Given the description of an element on the screen output the (x, y) to click on. 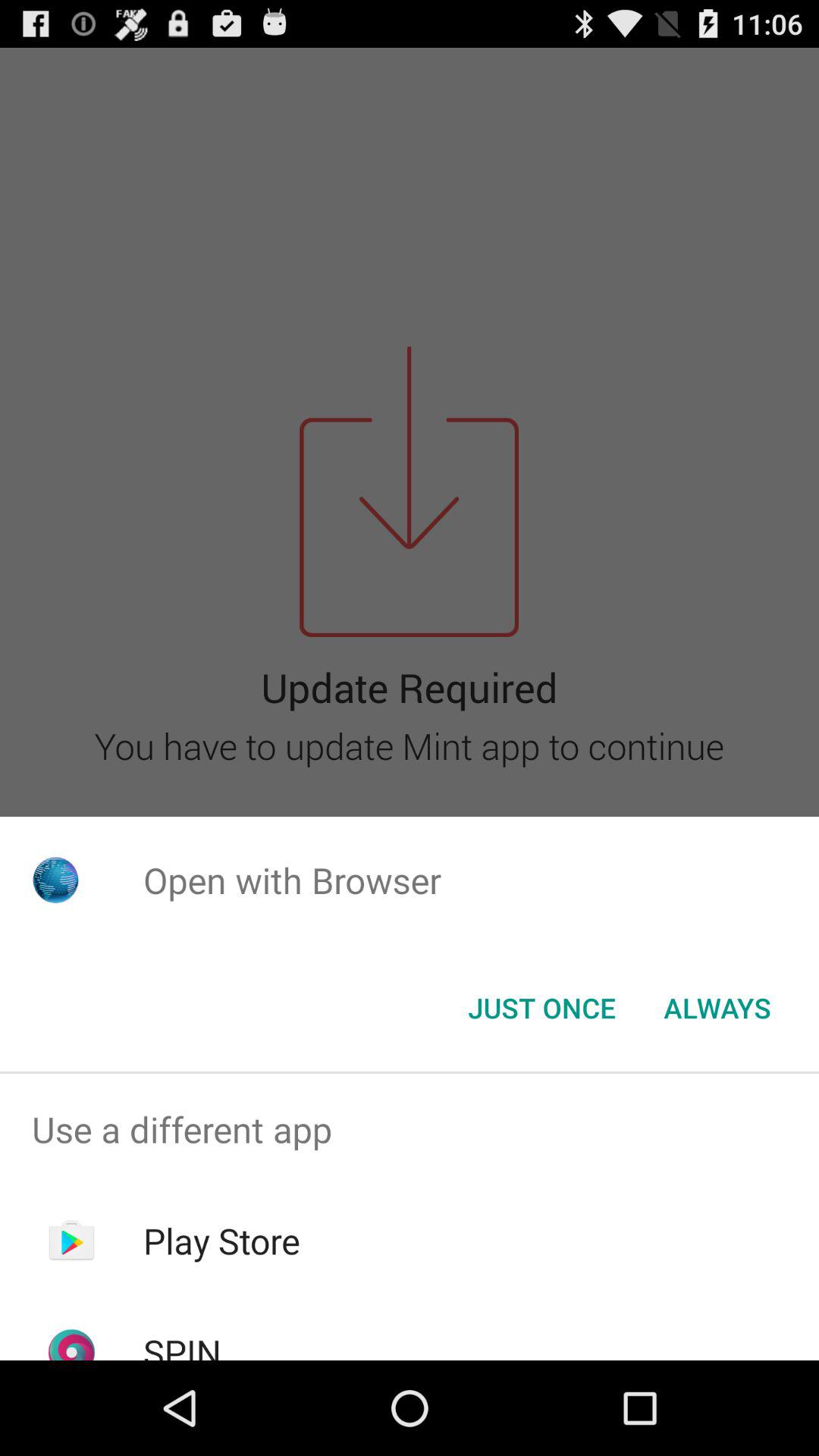
press use a different item (409, 1129)
